Given the description of an element on the screen output the (x, y) to click on. 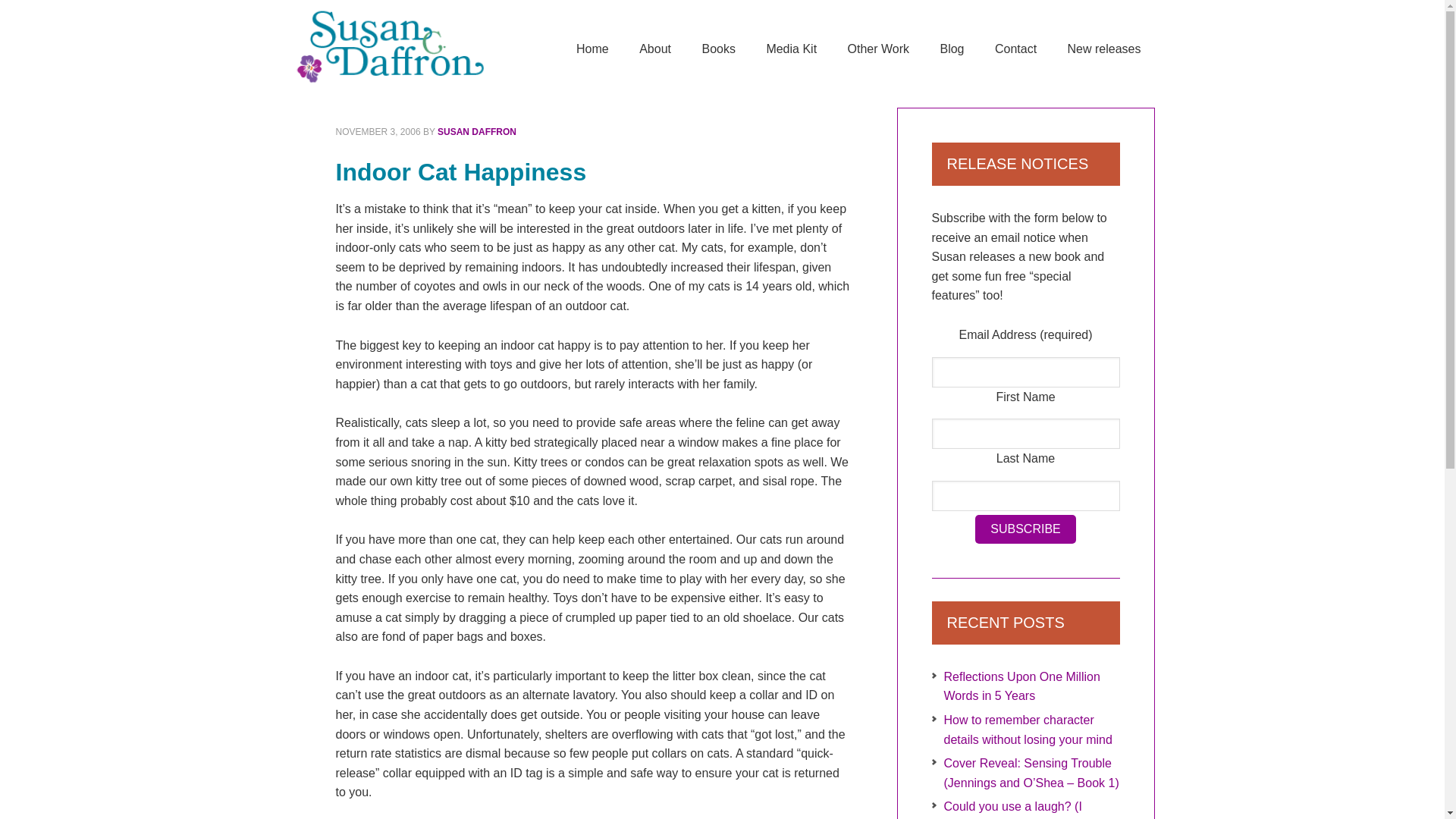
How to remember character details without losing your mind (1027, 729)
New releases (1104, 49)
Susan C. Daffron (410, 45)
Subscribe (1025, 529)
Reflections Upon One Million Words in 5 Years (1021, 686)
SUSAN DAFFRON (477, 131)
Contact (1015, 49)
Media Kit (790, 49)
Other Work (878, 49)
Subscribe (1025, 529)
